Given the description of an element on the screen output the (x, y) to click on. 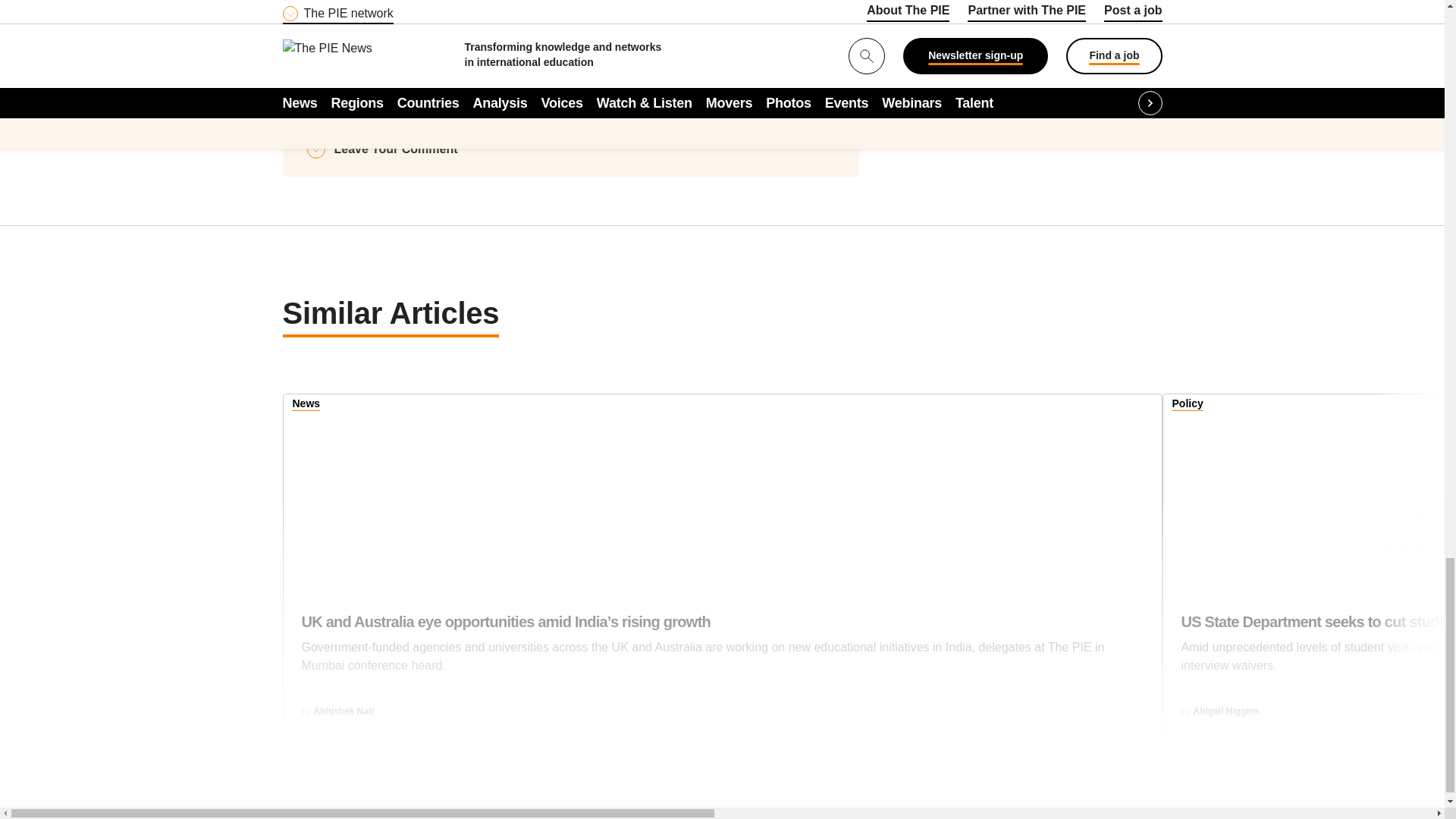
US State Department seeks to cut student visa bureaucracy (1318, 651)
View all Policy articles (1187, 405)
US State Department seeks to cut student visa bureaucracy (1309, 487)
View all News articles (306, 405)
